Given the description of an element on the screen output the (x, y) to click on. 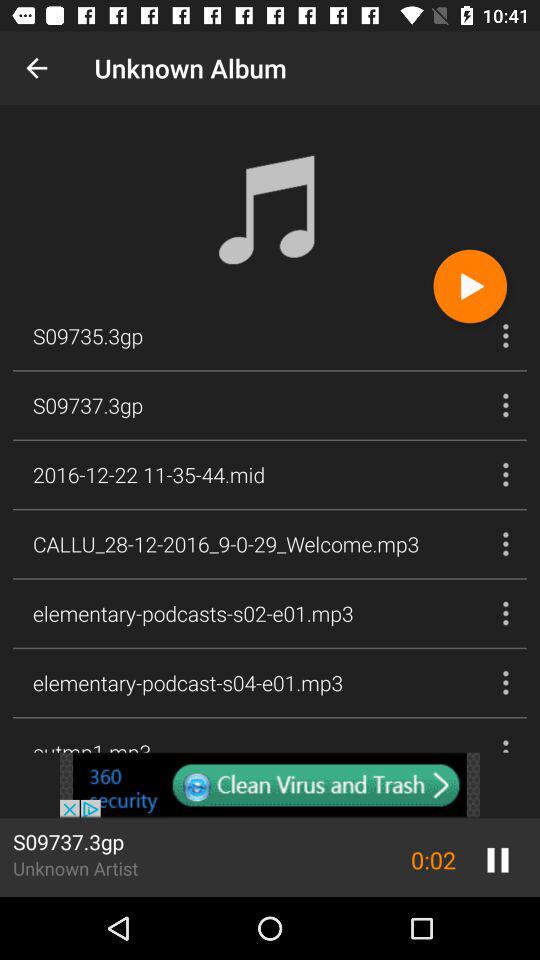
play music (470, 286)
